Given the description of an element on the screen output the (x, y) to click on. 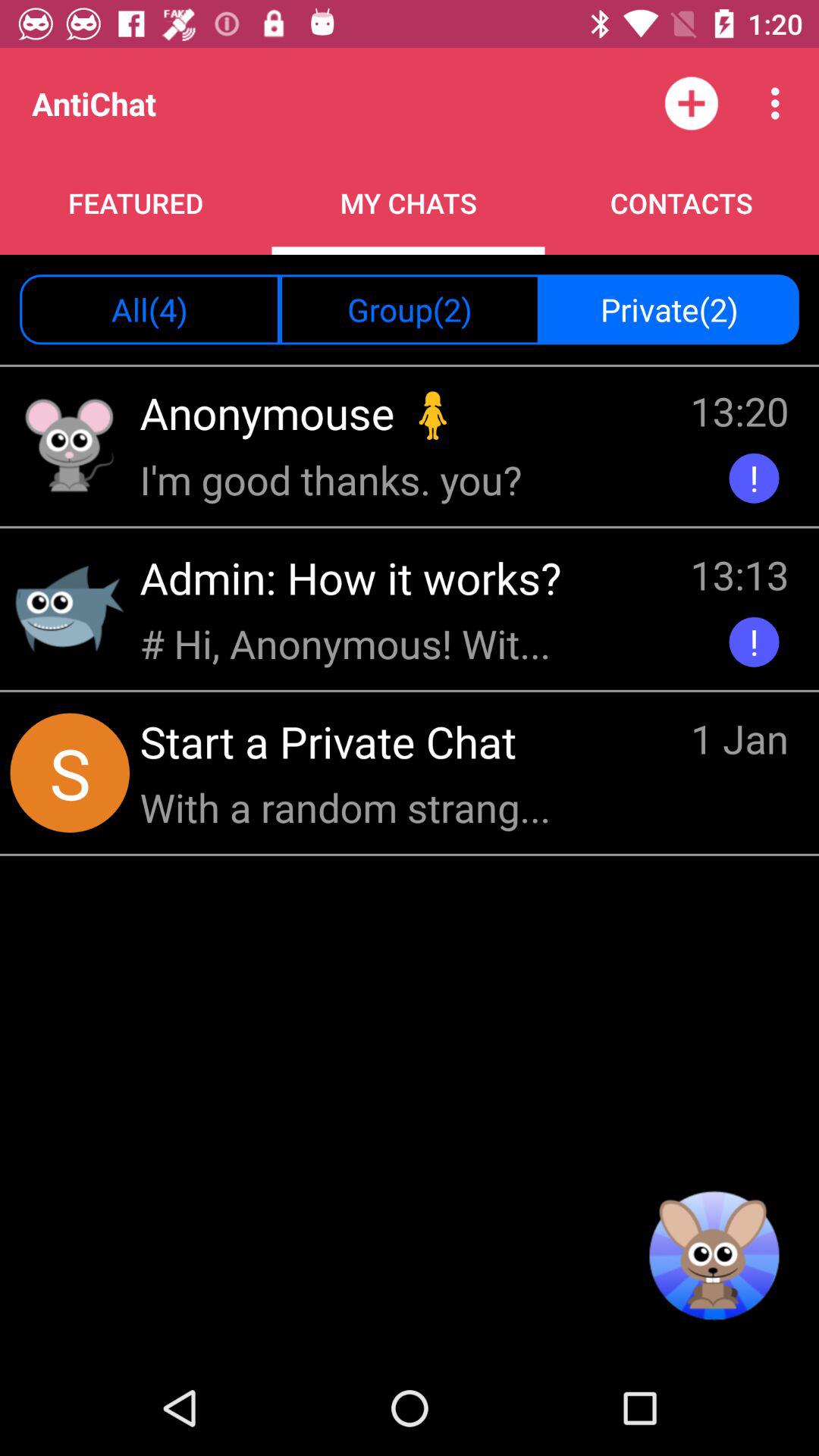
flip to all(4) item (149, 309)
